Given the description of an element on the screen output the (x, y) to click on. 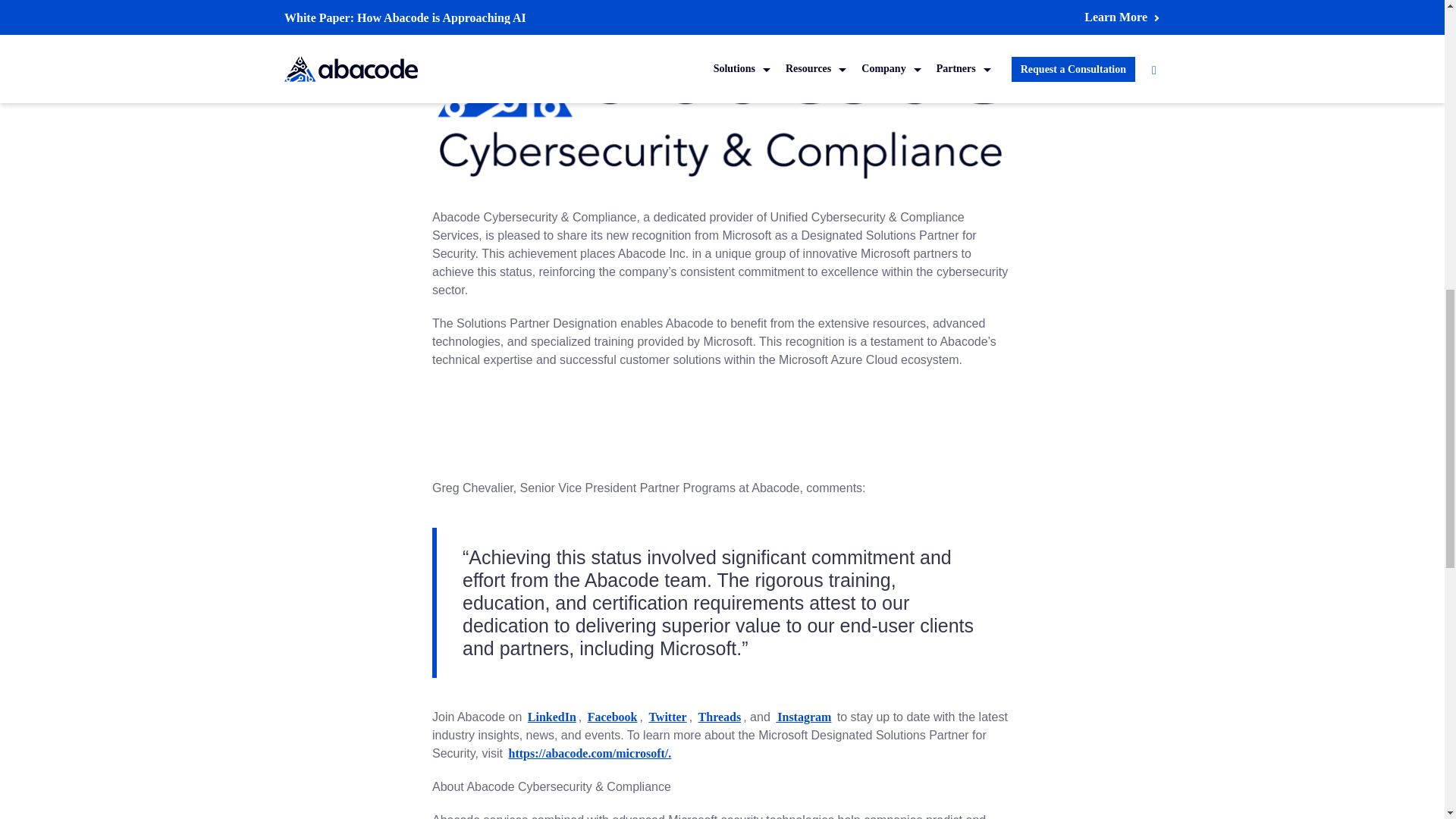
Facebook (612, 716)
Threads (719, 716)
LinkedIn (551, 716)
Instagram (803, 716)
submit (1061, 128)
Twitter (666, 716)
submit (1061, 128)
